Given the description of an element on the screen output the (x, y) to click on. 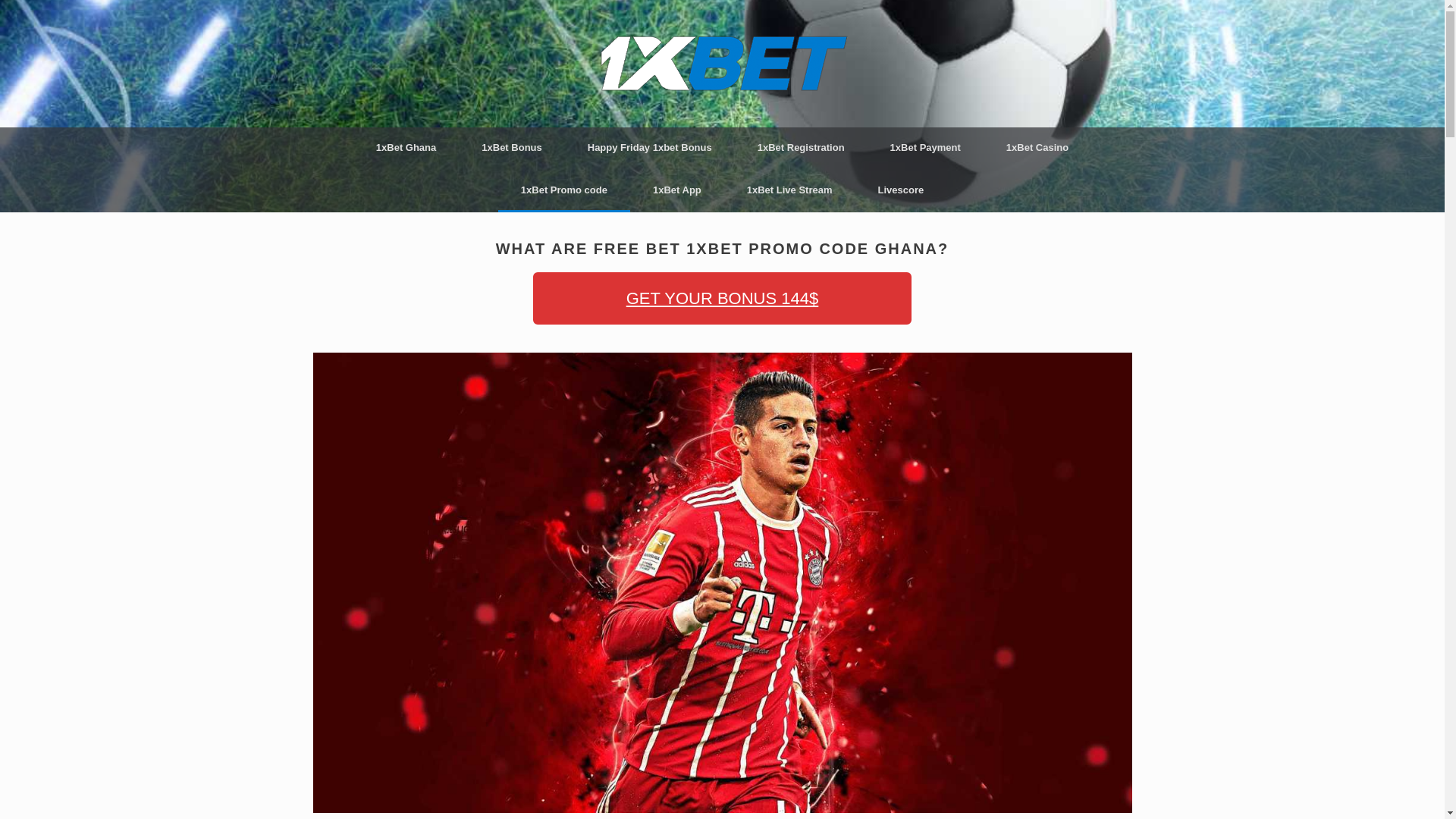
1xbetbetting-gh.com Element type: hover (721, 63)
1xBet Registration Element type: text (800, 147)
1xBet Live Stream Element type: text (789, 189)
1xBet Promo code Element type: text (564, 189)
1xBet Ghana Element type: text (405, 147)
1xBet Payment Element type: text (925, 147)
GET YOUR BONUS 144$ Element type: text (722, 298)
Skip to content Element type: text (0, 0)
Livescore Element type: text (901, 189)
1xBet App Element type: text (677, 189)
Happy Friday 1xbet Bonus Element type: text (649, 147)
1xBet Bonus Element type: text (511, 147)
1xBet Casino Element type: text (1037, 147)
